Given the description of an element on the screen output the (x, y) to click on. 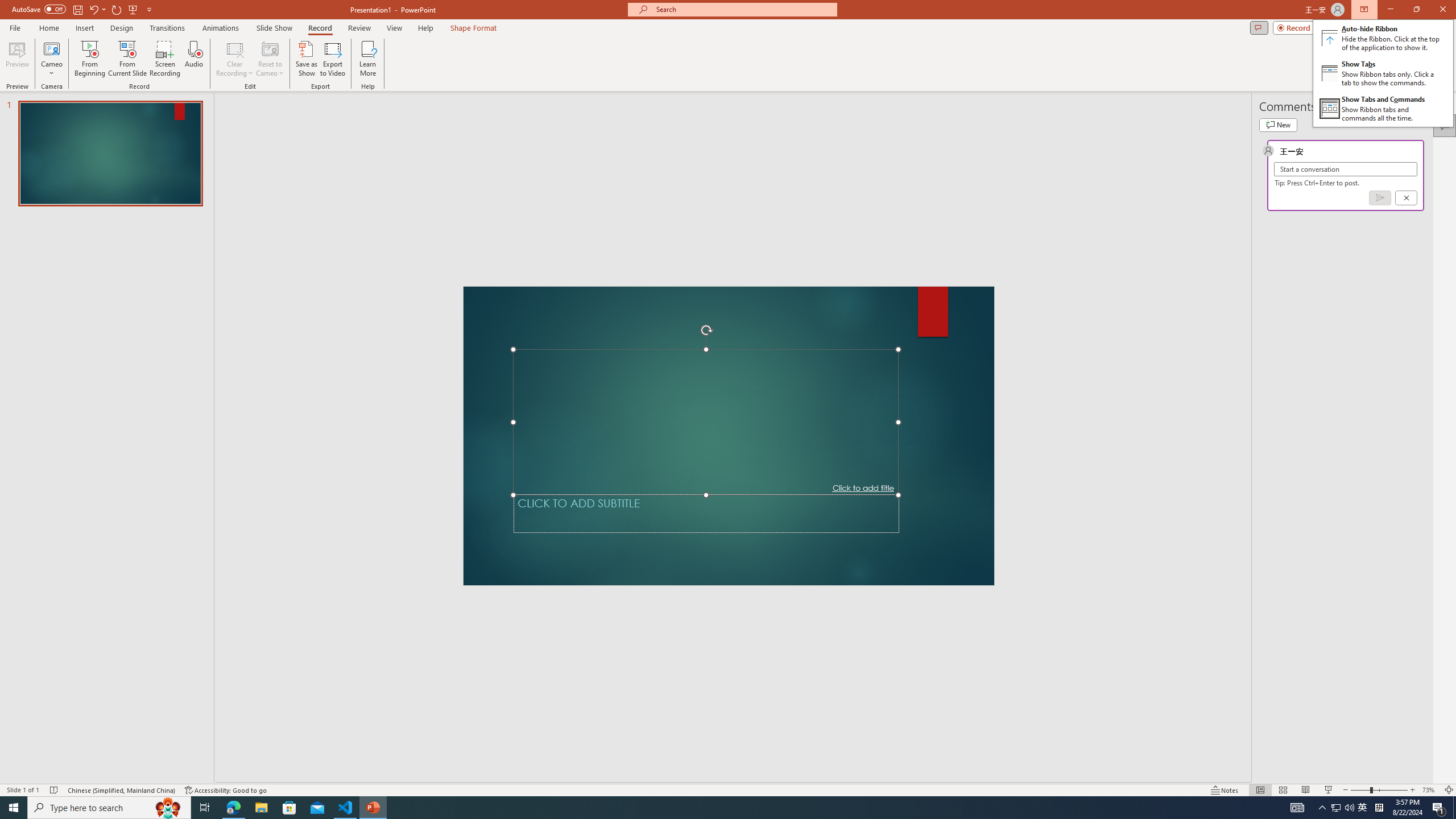
Type here to search (108, 807)
New comment (1278, 124)
Start a conversation (1344, 168)
Zoom Out (1360, 790)
Reading View (1305, 790)
Action Center, 1 new notification (1439, 807)
Visual Studio Code - 1 running window (345, 807)
Running applications (707, 807)
Design (122, 28)
Record (320, 28)
Accessibility Checker Accessibility: Good to go (226, 790)
Start (13, 807)
User Promoted Notification Area (1342, 807)
Q2790: 100% (1349, 807)
